Given the description of an element on the screen output the (x, y) to click on. 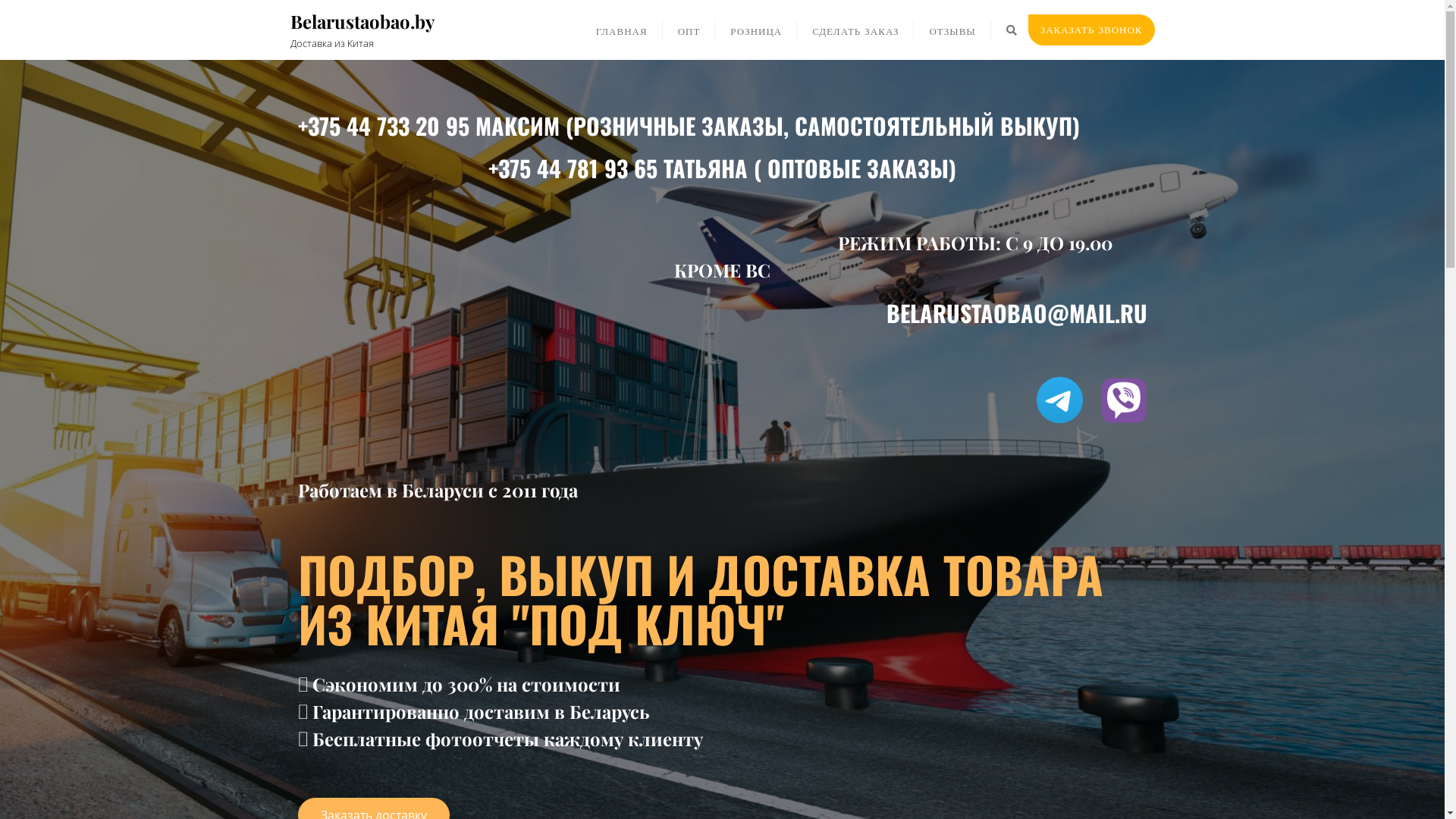
BELARUSTAOBAO@MAIL.RU Element type: text (1015, 311)
